Given the description of an element on the screen output the (x, y) to click on. 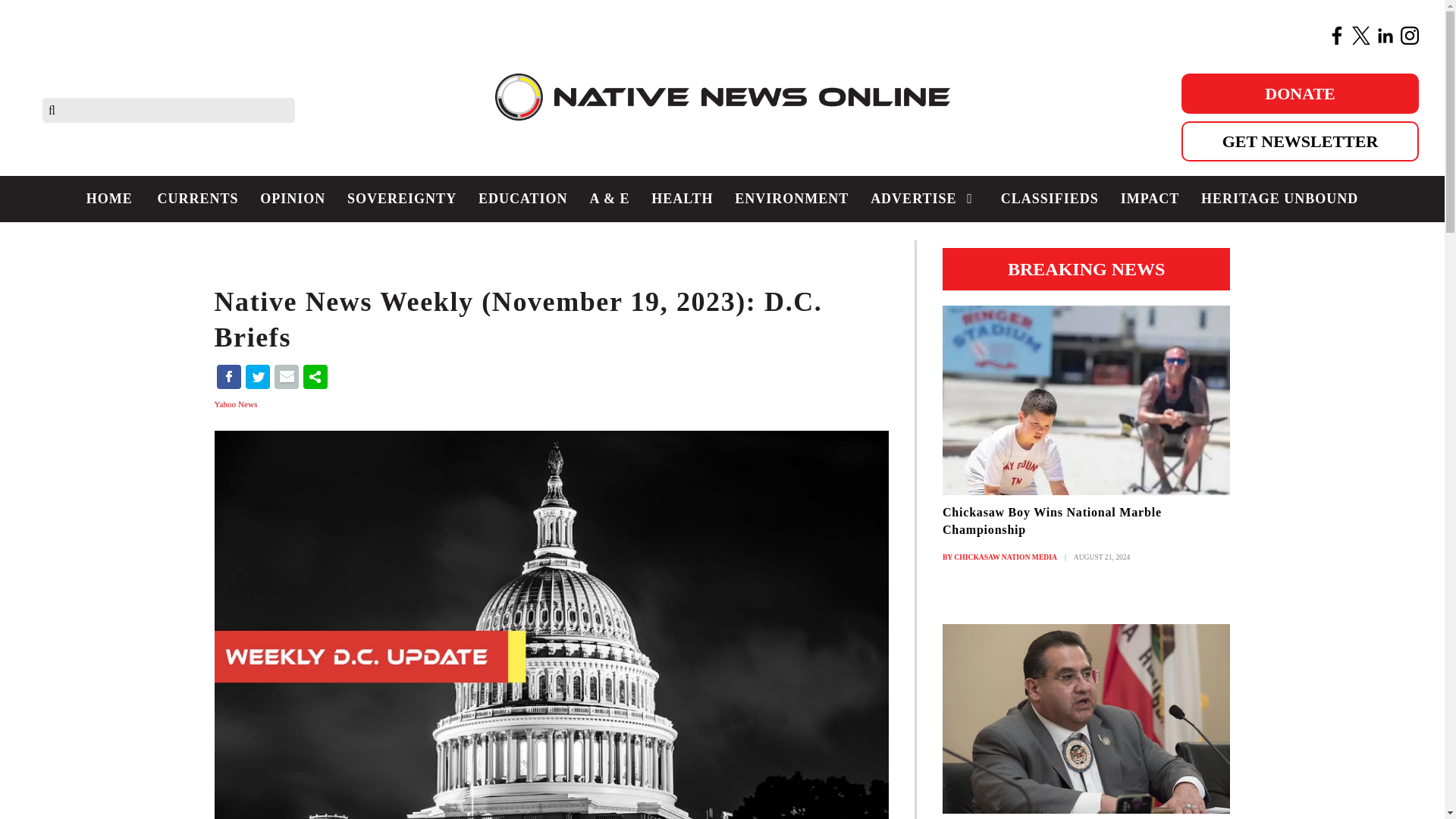
HOME (109, 198)
ADVERTISE (924, 198)
OPINION (292, 198)
CLASSIFIEDS (1049, 198)
HEALTH (682, 198)
GET NEWSLETTER (1299, 141)
Native News Online (722, 109)
EDUCATION (522, 198)
Yahoo News (237, 404)
DONATE (1299, 93)
